Given the description of an element on the screen output the (x, y) to click on. 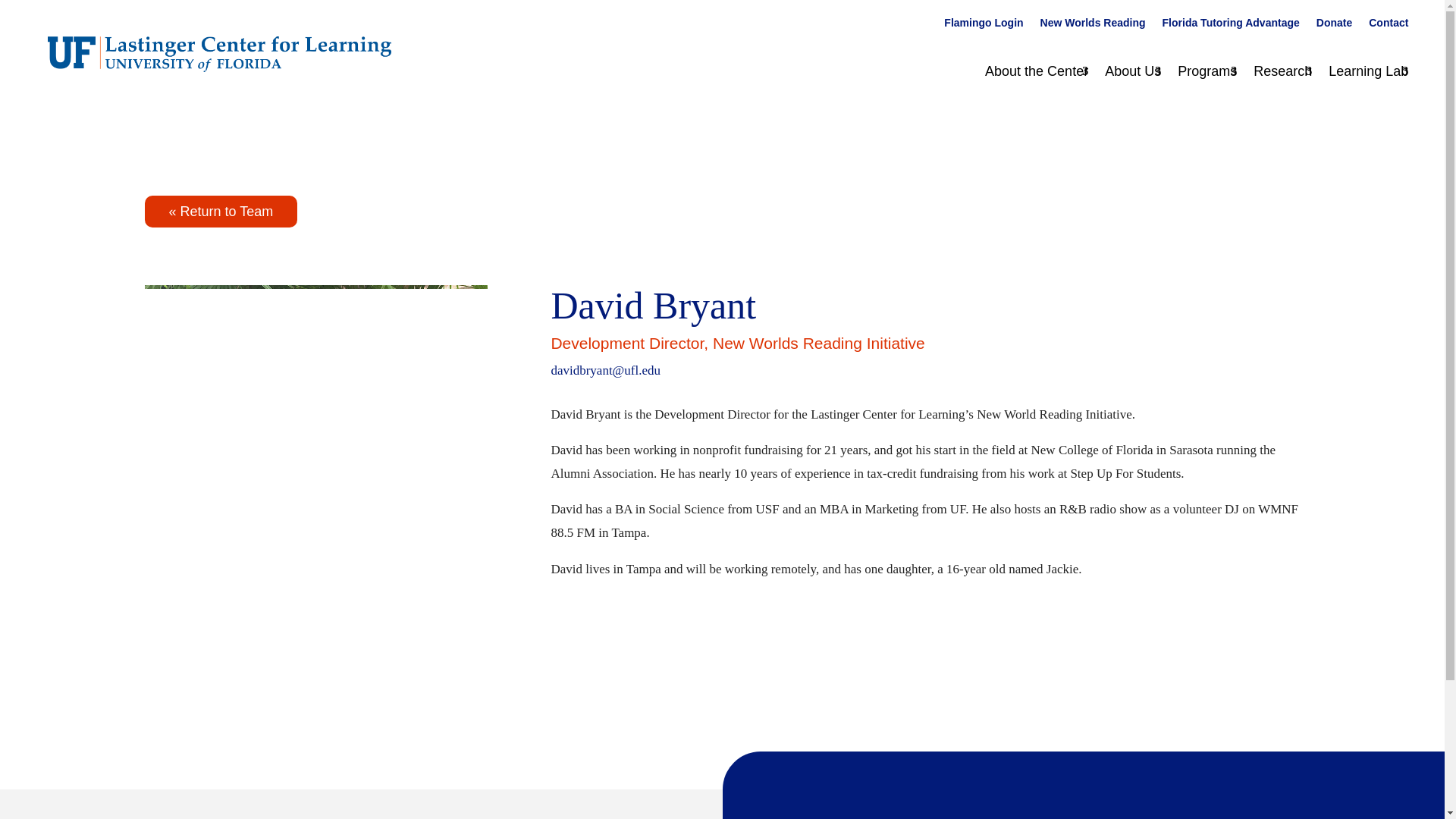
Florida Tutoring Advantage (1230, 25)
Contact (1387, 25)
Flamingo Login (983, 25)
David Bryant (315, 455)
Donate (1334, 25)
New Worlds Reading (1093, 25)
